Given the description of an element on the screen output the (x, y) to click on. 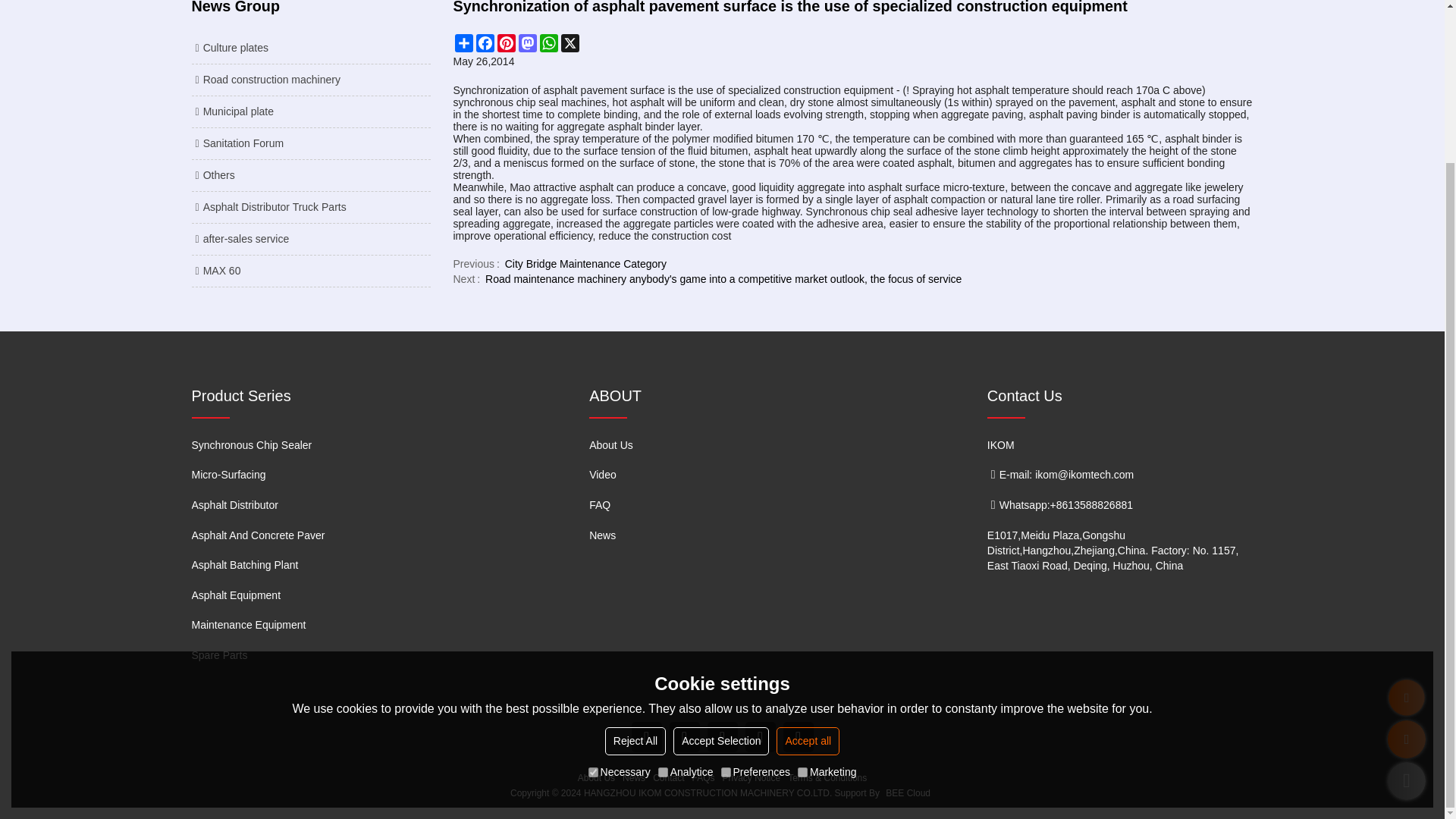
on (663, 579)
Asphalt Distributor Truck Parts (309, 207)
on (593, 579)
on (802, 579)
after-sales service (309, 238)
on (725, 579)
Share (463, 43)
MAX 60 (309, 270)
Others (309, 175)
Road construction machinery (309, 79)
Municipal plate (309, 111)
Facebook (485, 43)
Pinterest (506, 43)
Culture plates (309, 48)
Sanitation Forum (309, 143)
